Given the description of an element on the screen output the (x, y) to click on. 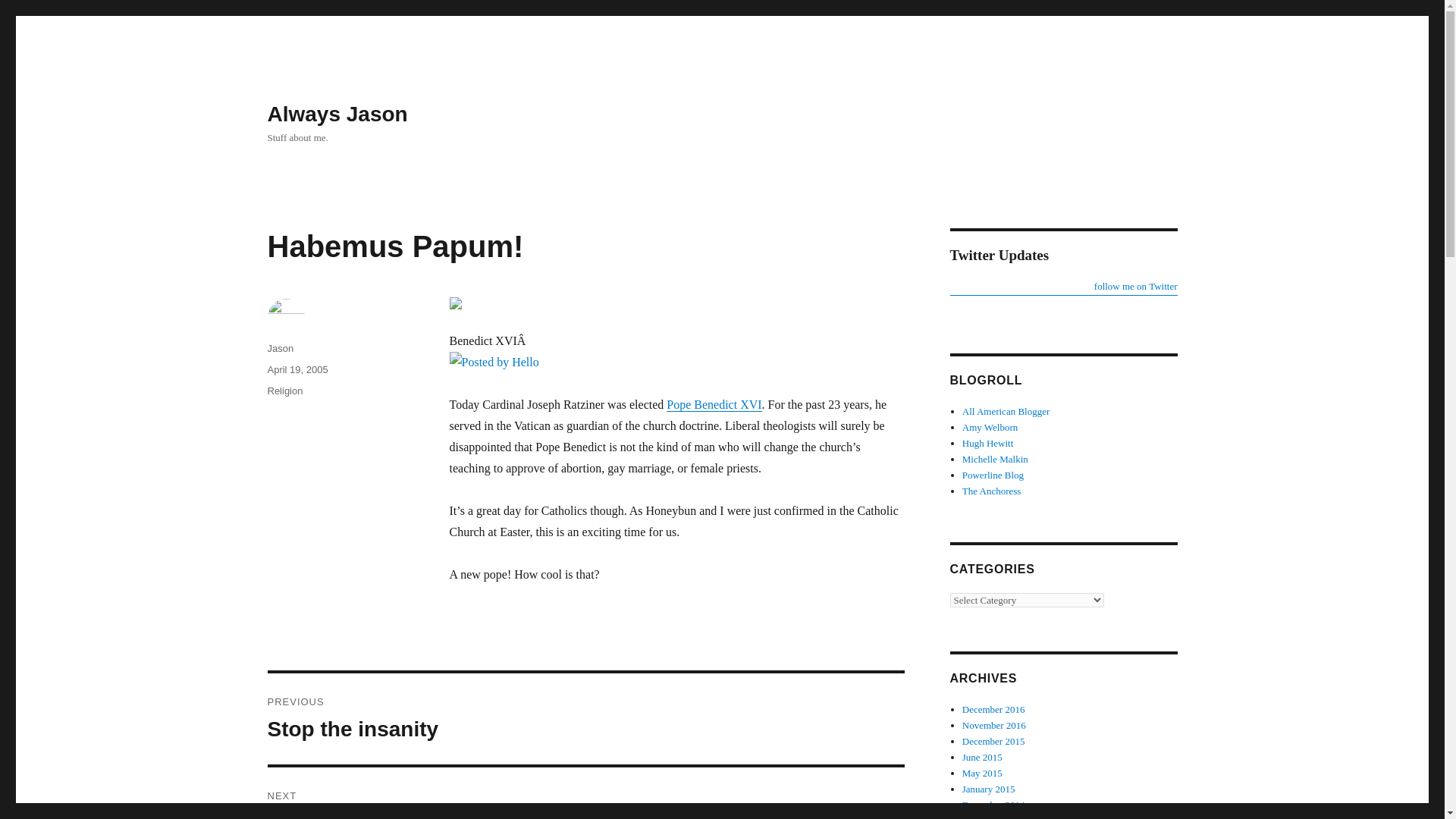
Jason (280, 348)
Religion (284, 390)
Michelle Malkin (994, 459)
April 19, 2005 (585, 718)
April 2014 (296, 369)
December 2016 (984, 816)
May 2015 (993, 708)
Amy Welborn (982, 772)
Hugh Hewitt (989, 427)
follow me on Twitter (987, 442)
December 2015 (1062, 286)
Pope Benedict XVI (993, 740)
Powerline Blog (713, 404)
All American Blogger (992, 474)
